Given the description of an element on the screen output the (x, y) to click on. 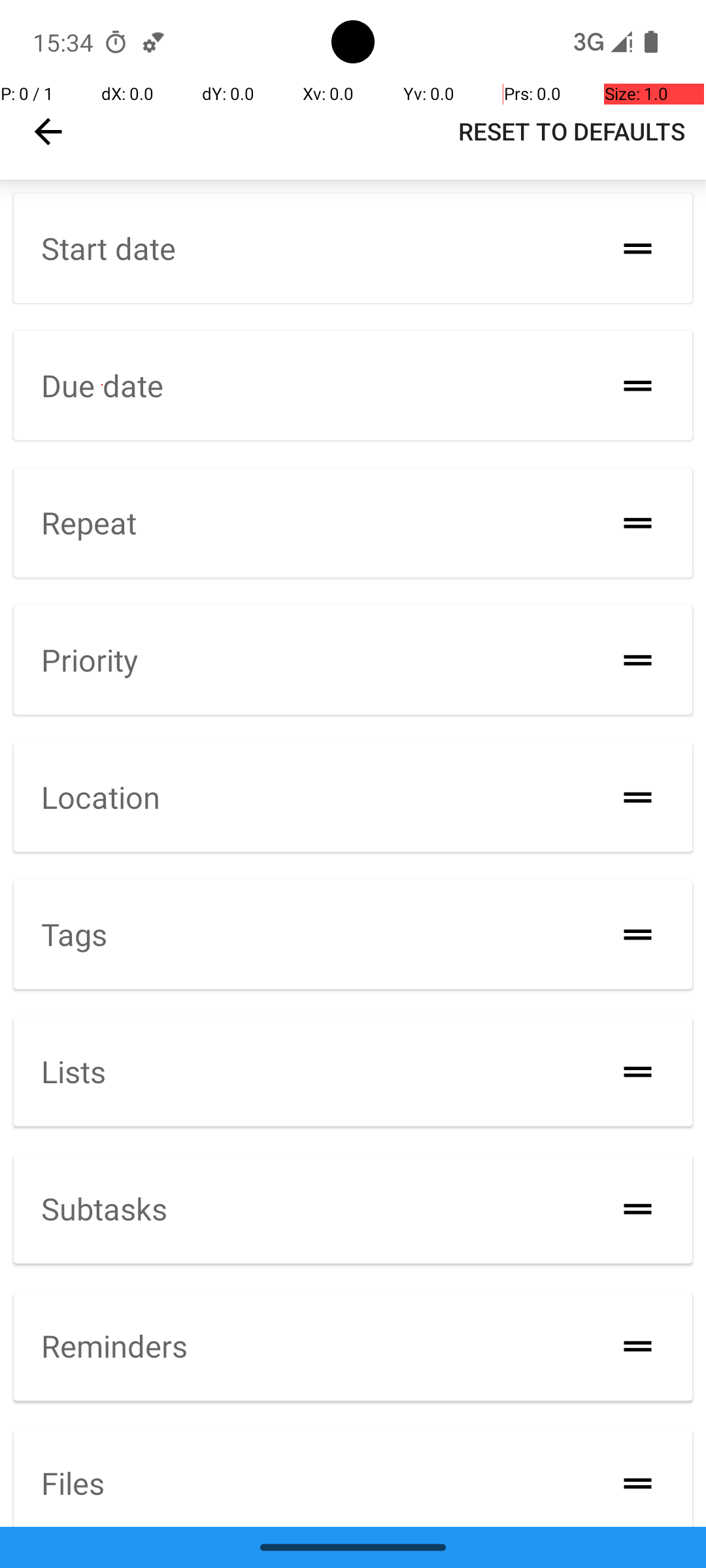
RESET TO DEFAULTS Element type: android.widget.Button (571, 131)
Start date Element type: android.widget.TextView (108, 247)
Lists Element type: android.widget.TextView (73, 1070)
Reminders Element type: android.widget.TextView (114, 1345)
